Given the description of an element on the screen output the (x, y) to click on. 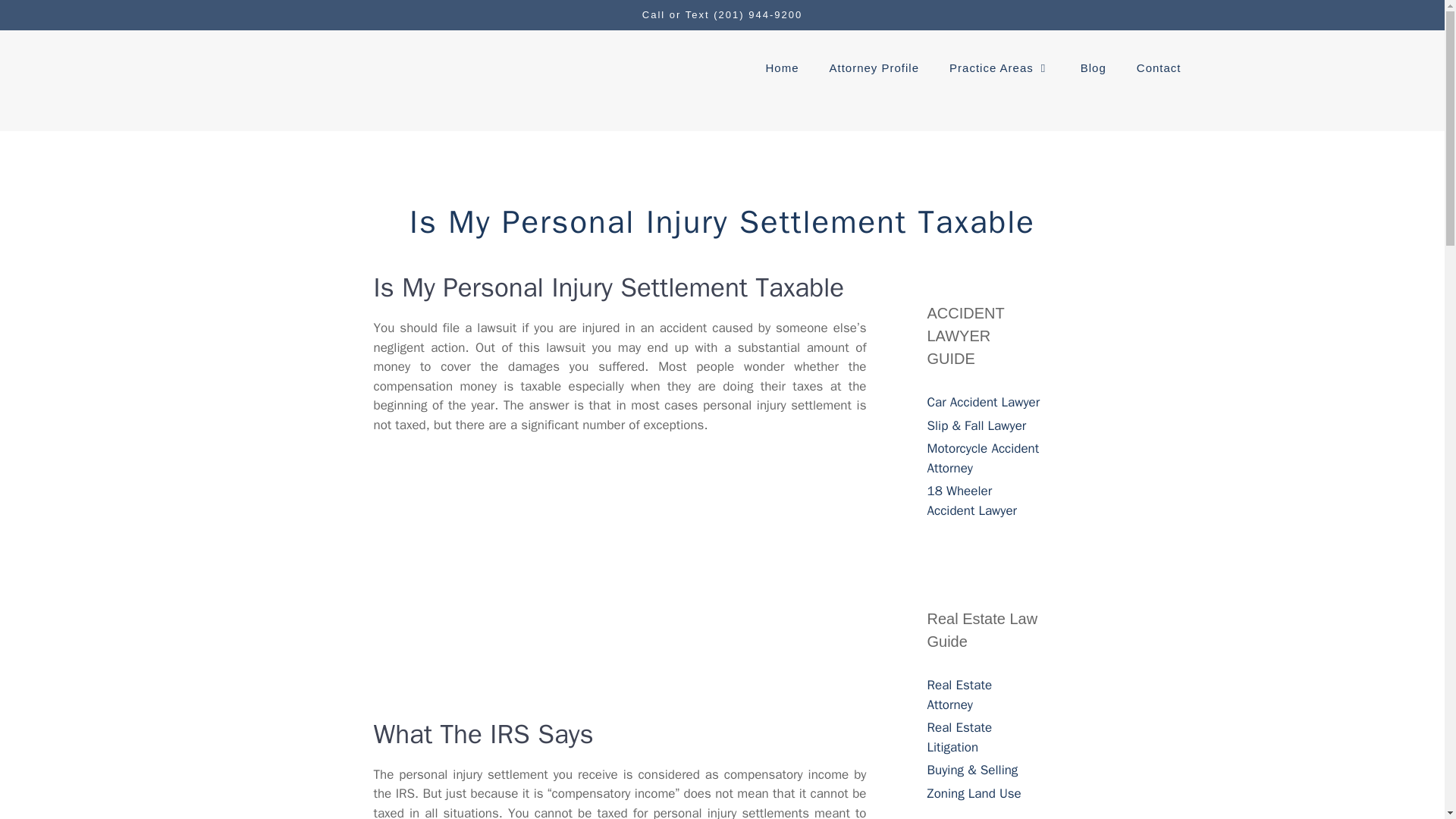
Practice Areas (999, 67)
Home (781, 67)
Contact (1158, 67)
Attorney Profile (873, 67)
Blog (1093, 67)
